Given the description of an element on the screen output the (x, y) to click on. 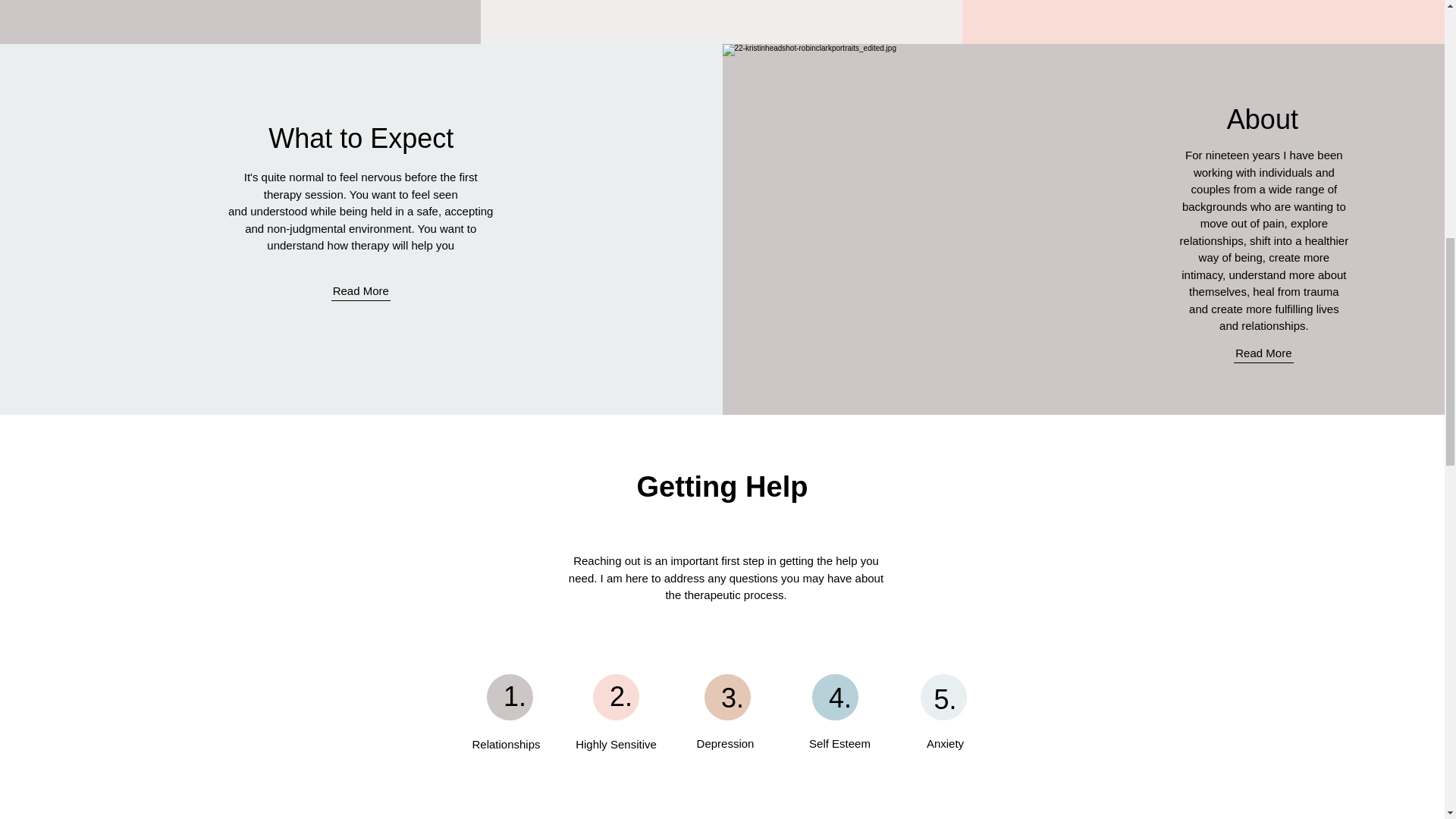
Read More (360, 290)
Relationships (505, 743)
Read More (1262, 352)
Highly Sensitive (615, 743)
